Given the description of an element on the screen output the (x, y) to click on. 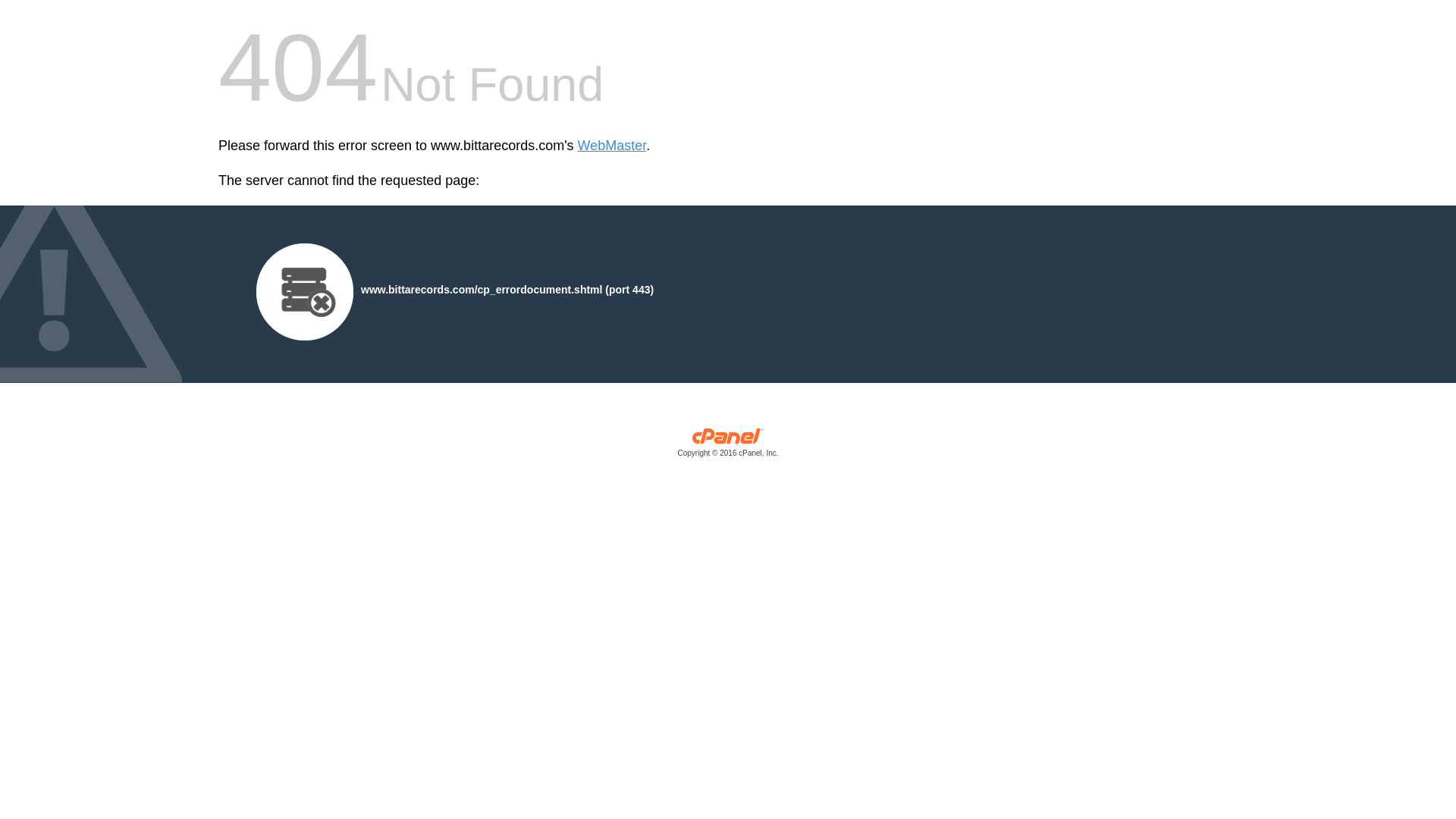
cPanel, Inc. (727, 446)
WebMaster (612, 145)
